Given the description of an element on the screen output the (x, y) to click on. 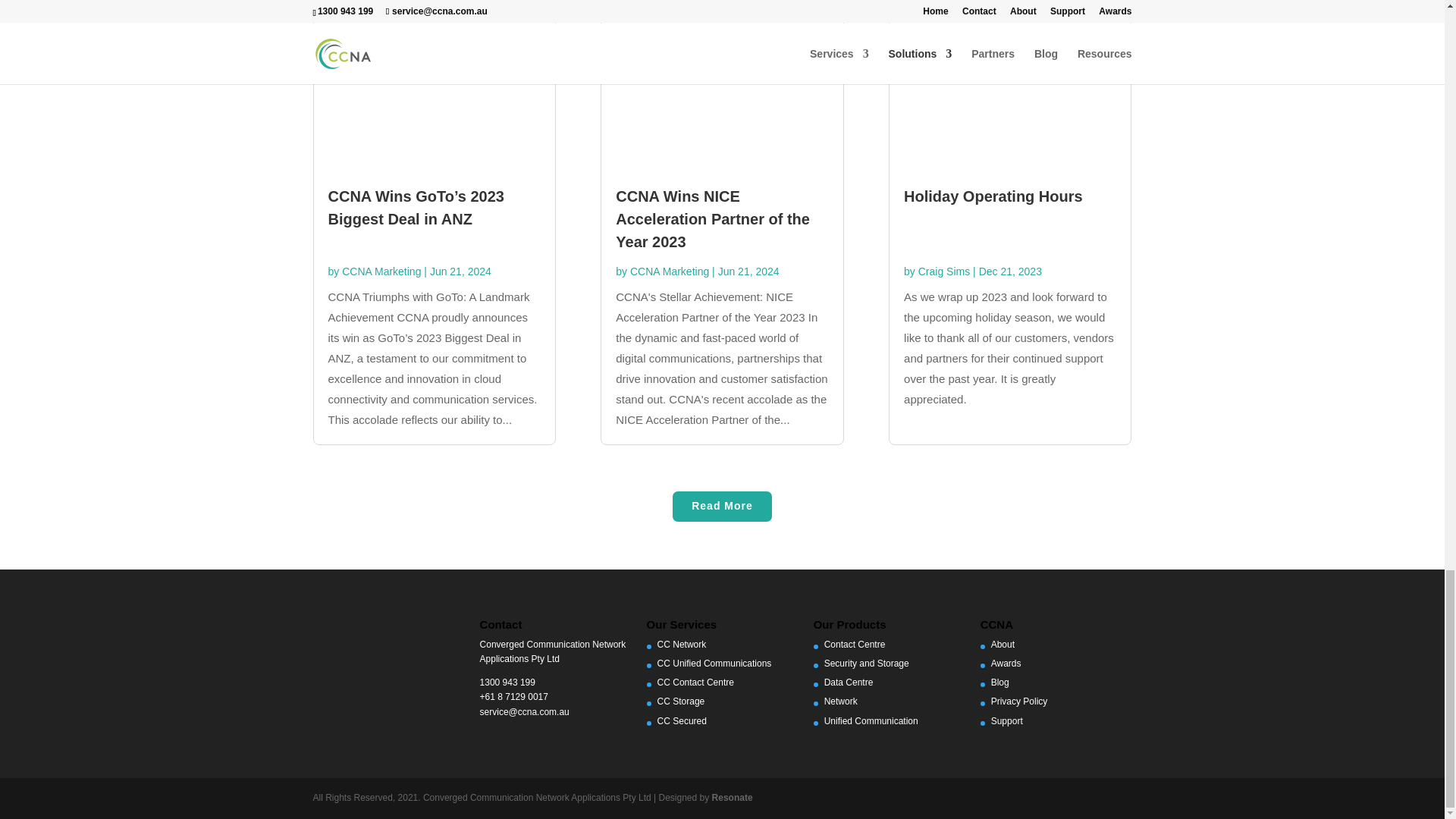
Posts by Craig Sims (943, 271)
Posts by CCNA Marketing (381, 271)
Posts by CCNA Marketing (669, 271)
